Given the description of an element on the screen output the (x, y) to click on. 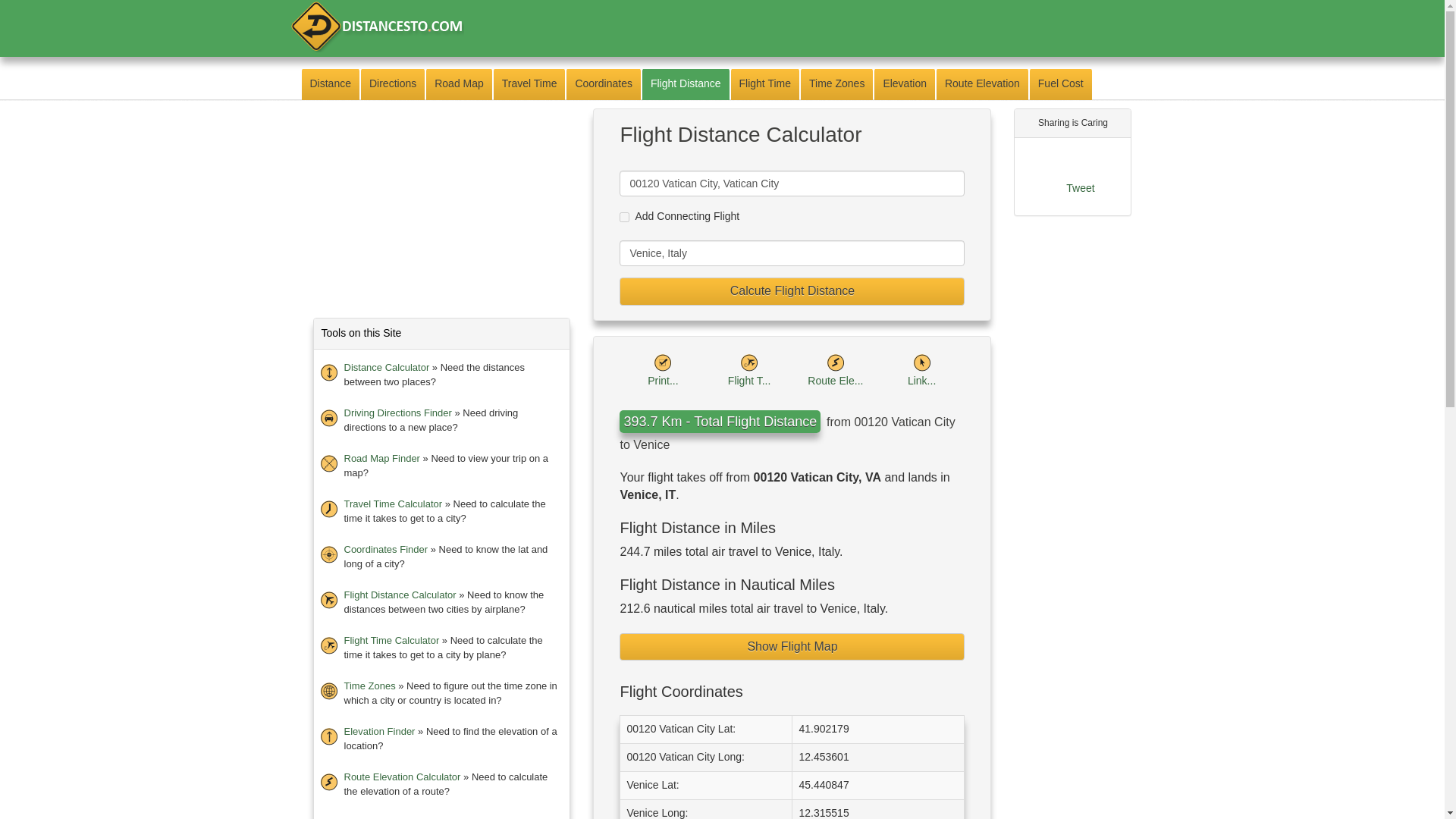
Fuel Cost Calculator (388, 817)
Print (662, 362)
Link (921, 369)
Elevation (904, 83)
Link... (921, 369)
Route Elevation from 00120 Vatican City to Venice (835, 369)
Print... (662, 369)
Distancesto.com (376, 26)
Flight Time (749, 362)
Flight Time (764, 83)
Flight Time Calculator (391, 640)
Route Elevation (835, 362)
Calcute Flight Distance (791, 291)
Flight T... (749, 369)
Road Map (459, 83)
